Given the description of an element on the screen output the (x, y) to click on. 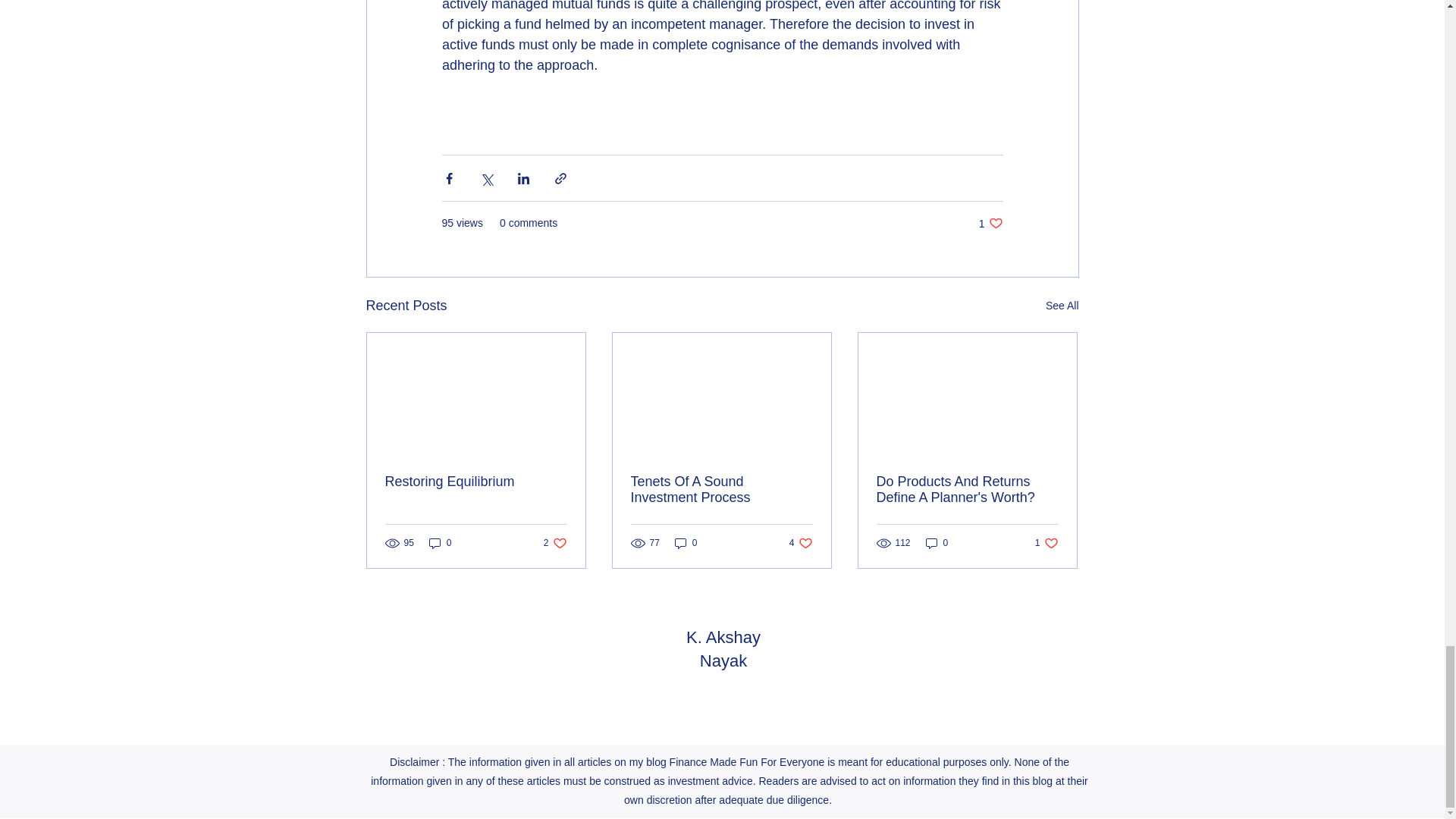
0 (440, 543)
See All (1061, 305)
Restoring Equilibrium (476, 481)
0 (990, 223)
0 (937, 543)
Do Products And Returns Define A Planner's Worth? (800, 543)
Tenets Of A Sound Investment Process (685, 543)
K. Akshay Nayak (967, 490)
